Given the description of an element on the screen output the (x, y) to click on. 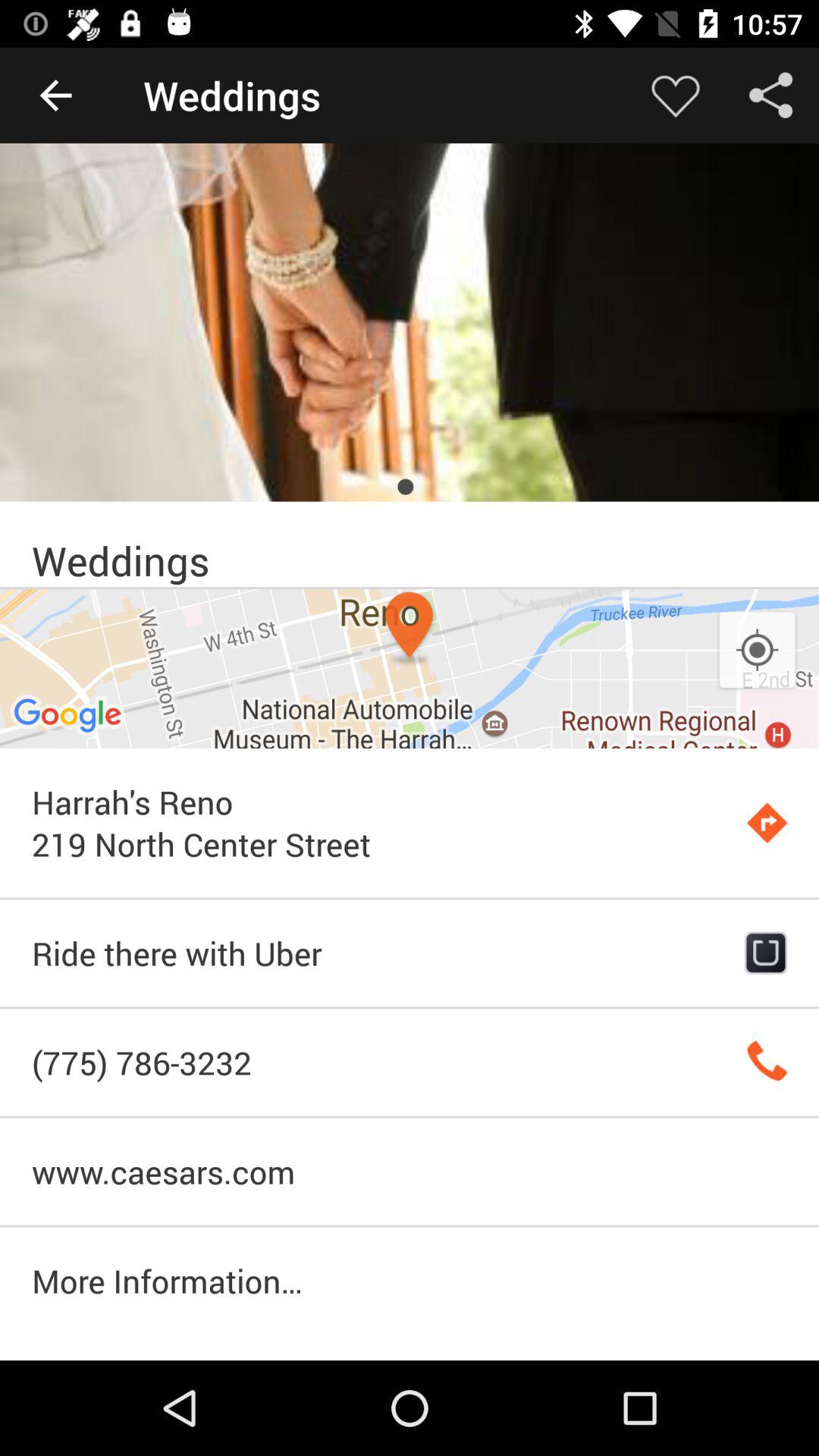
scroll until the www.caesars.com item (409, 1171)
